Given the description of an element on the screen output the (x, y) to click on. 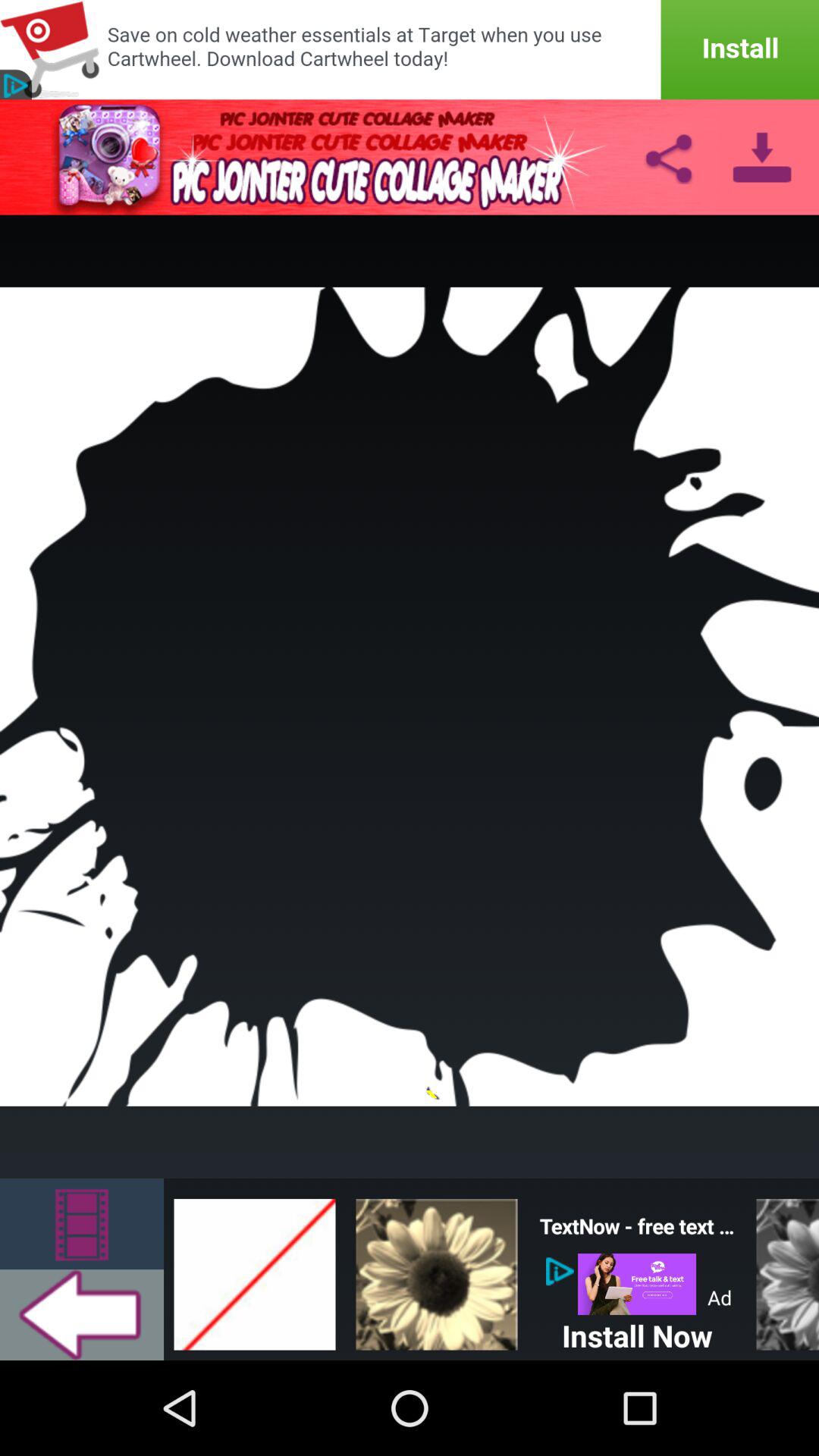
initiate download (409, 49)
